Given the description of an element on the screen output the (x, y) to click on. 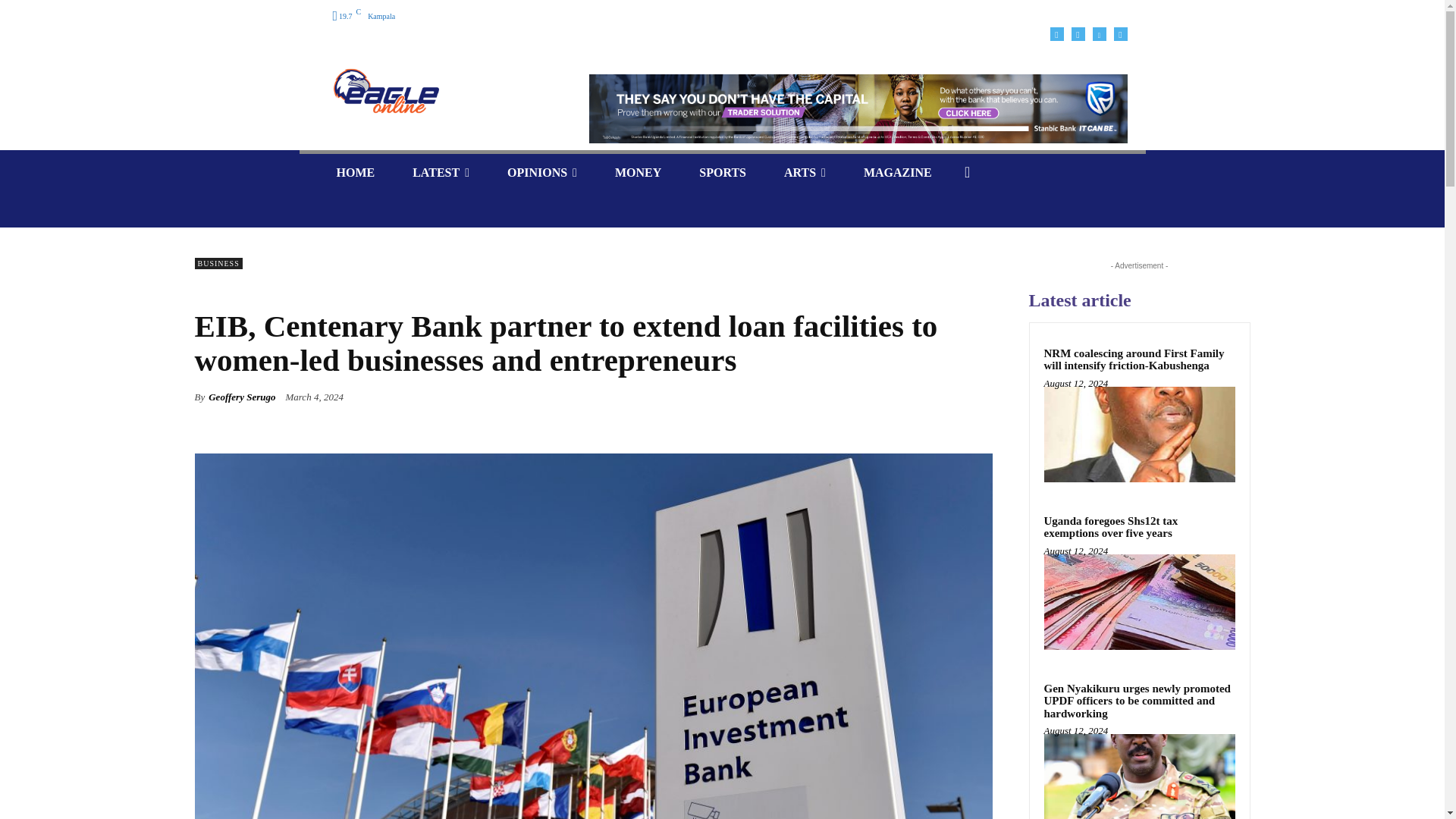
HOME (355, 171)
LATEST (440, 171)
Eagle Online (385, 90)
OPINIONS (541, 171)
Instagram (1077, 33)
Twitter (1119, 33)
Linkedin (1098, 33)
MONEY (637, 171)
Facebook (1055, 33)
ARTS (804, 171)
